Given the description of an element on the screen output the (x, y) to click on. 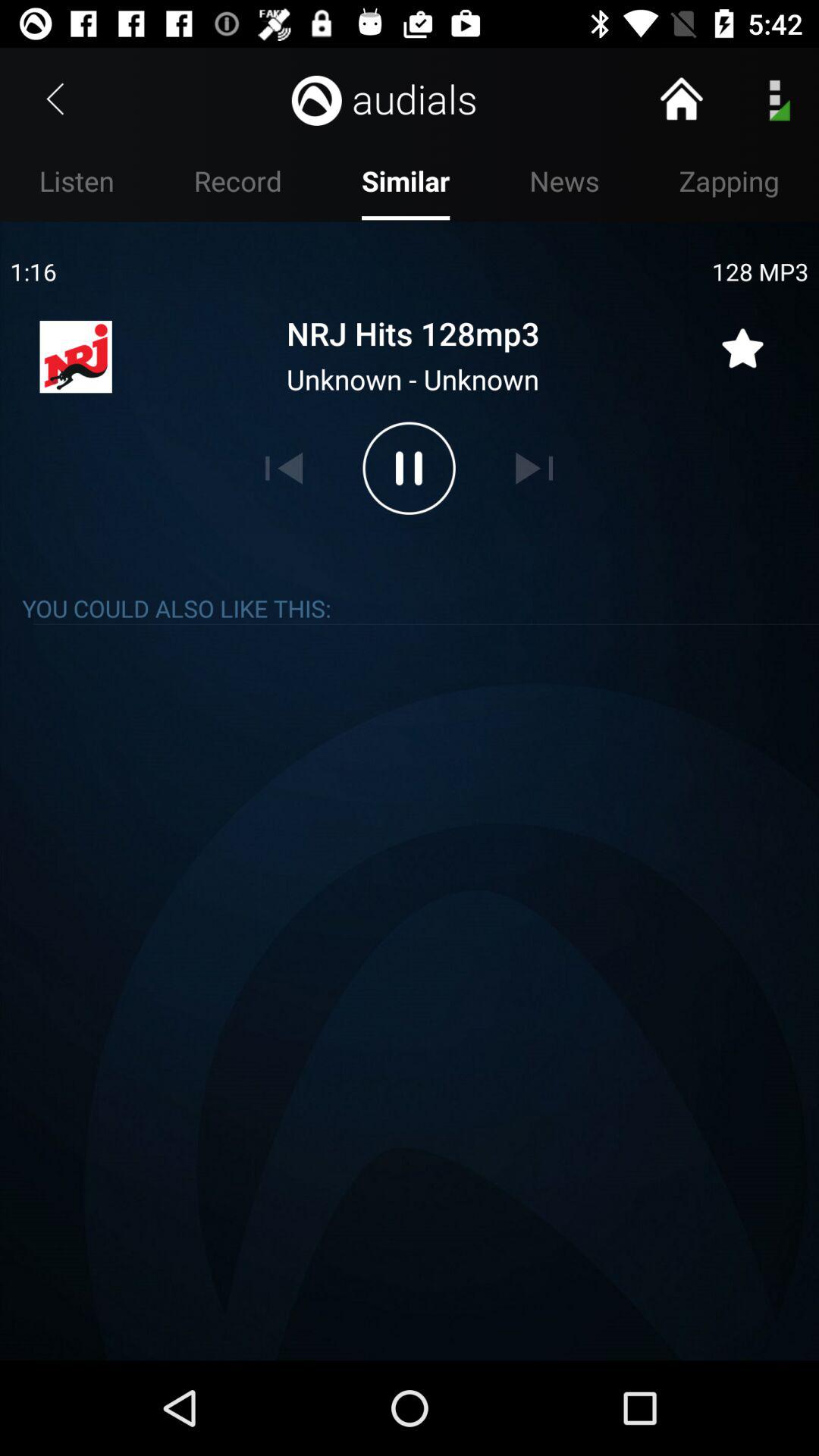
add song to favorites (742, 339)
